Given the description of an element on the screen output the (x, y) to click on. 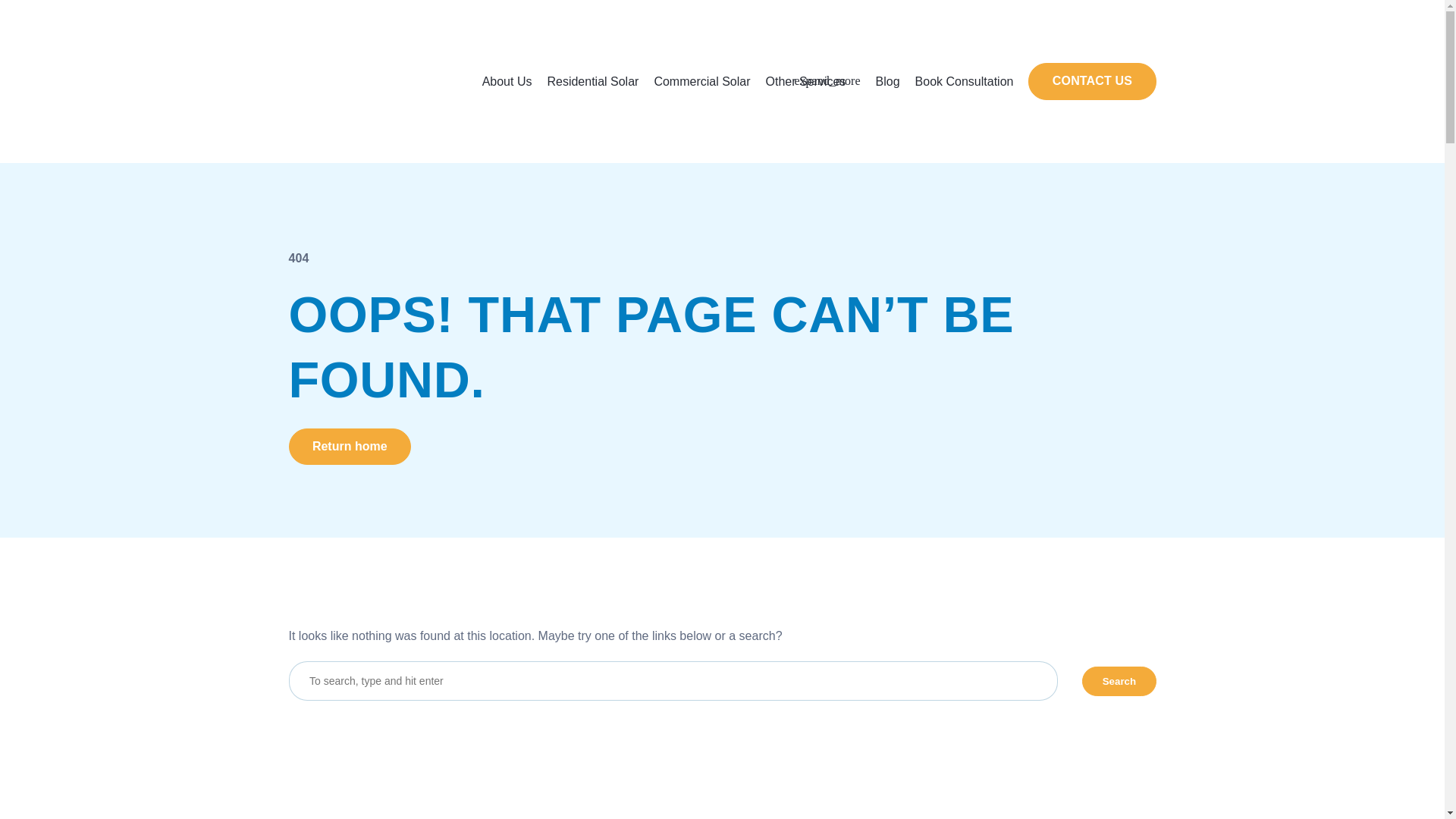
Book Consultation Element type: text (964, 81)
Other Services Element type: text (812, 81)
Search Element type: text (1118, 681)
Residential Solar Element type: text (592, 81)
Blog Element type: text (887, 81)
Commercial Solar Element type: text (701, 81)
About Us Element type: text (507, 81)
CONTACT US Element type: text (1091, 80)
Return home Element type: text (349, 446)
